Given the description of an element on the screen output the (x, y) to click on. 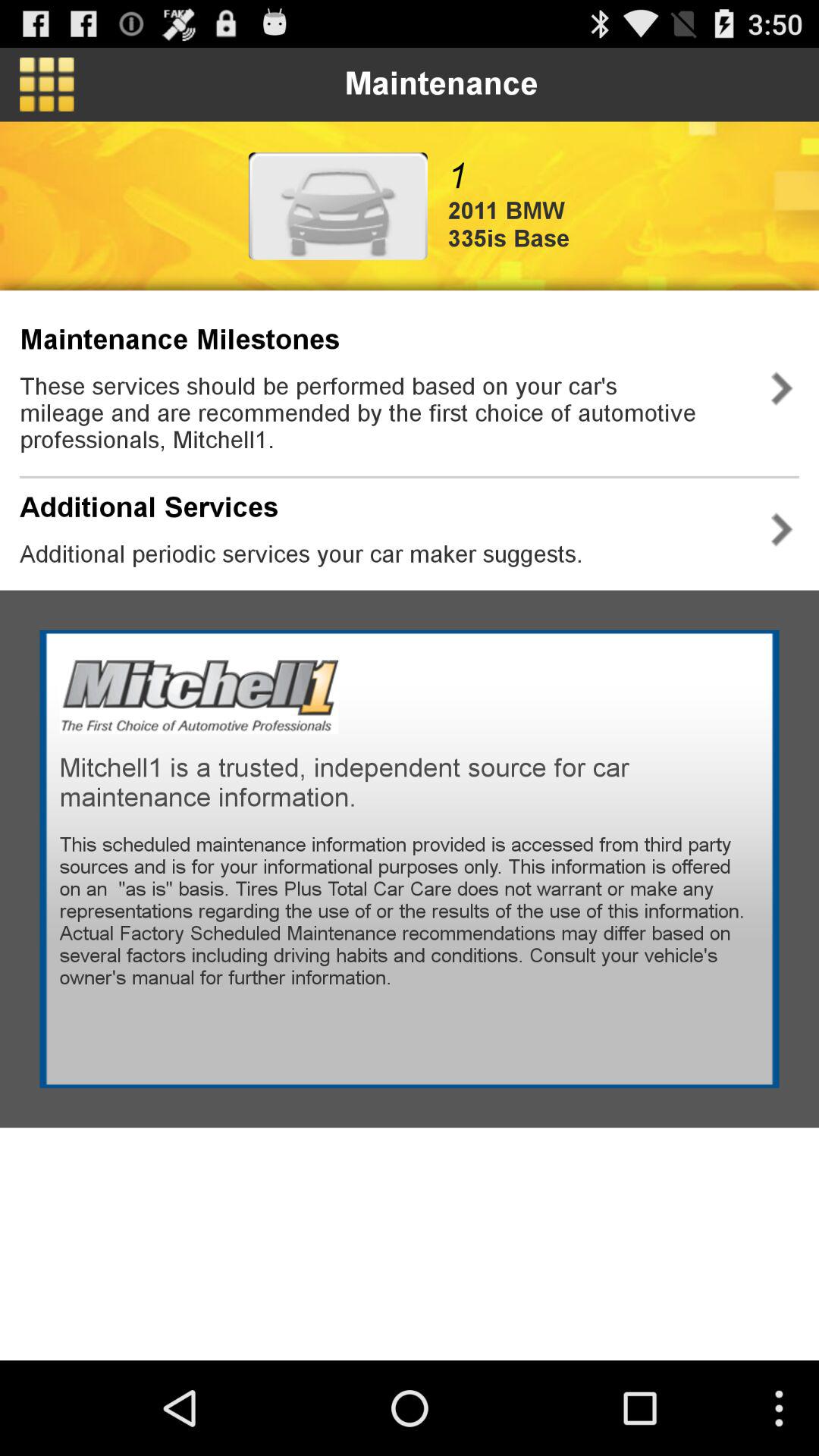
turn off icon to the left of 1  icon (337, 205)
